Given the description of an element on the screen output the (x, y) to click on. 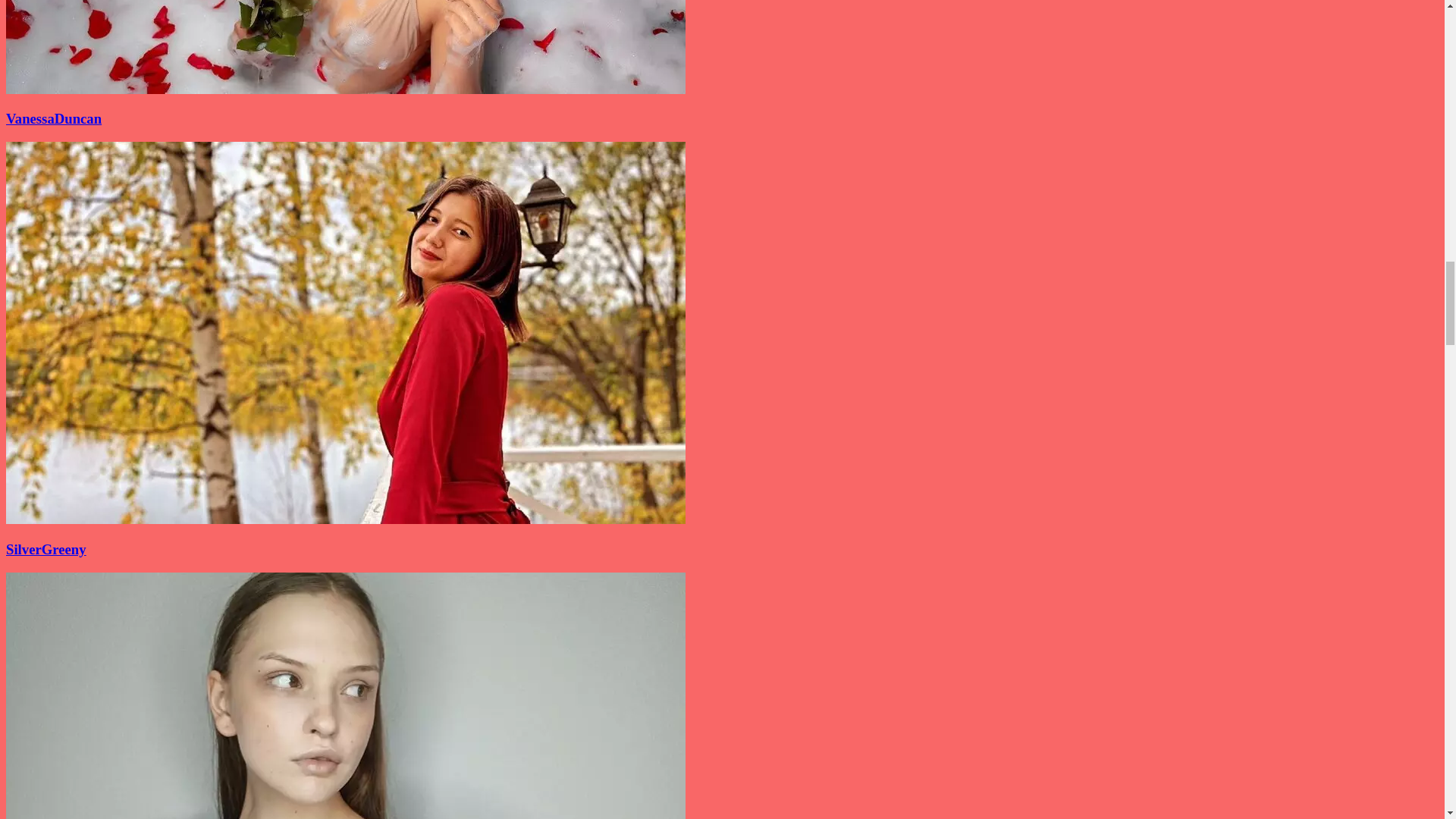
Start Anal Finger VanessaDuncan (345, 89)
